Given the description of an element on the screen output the (x, y) to click on. 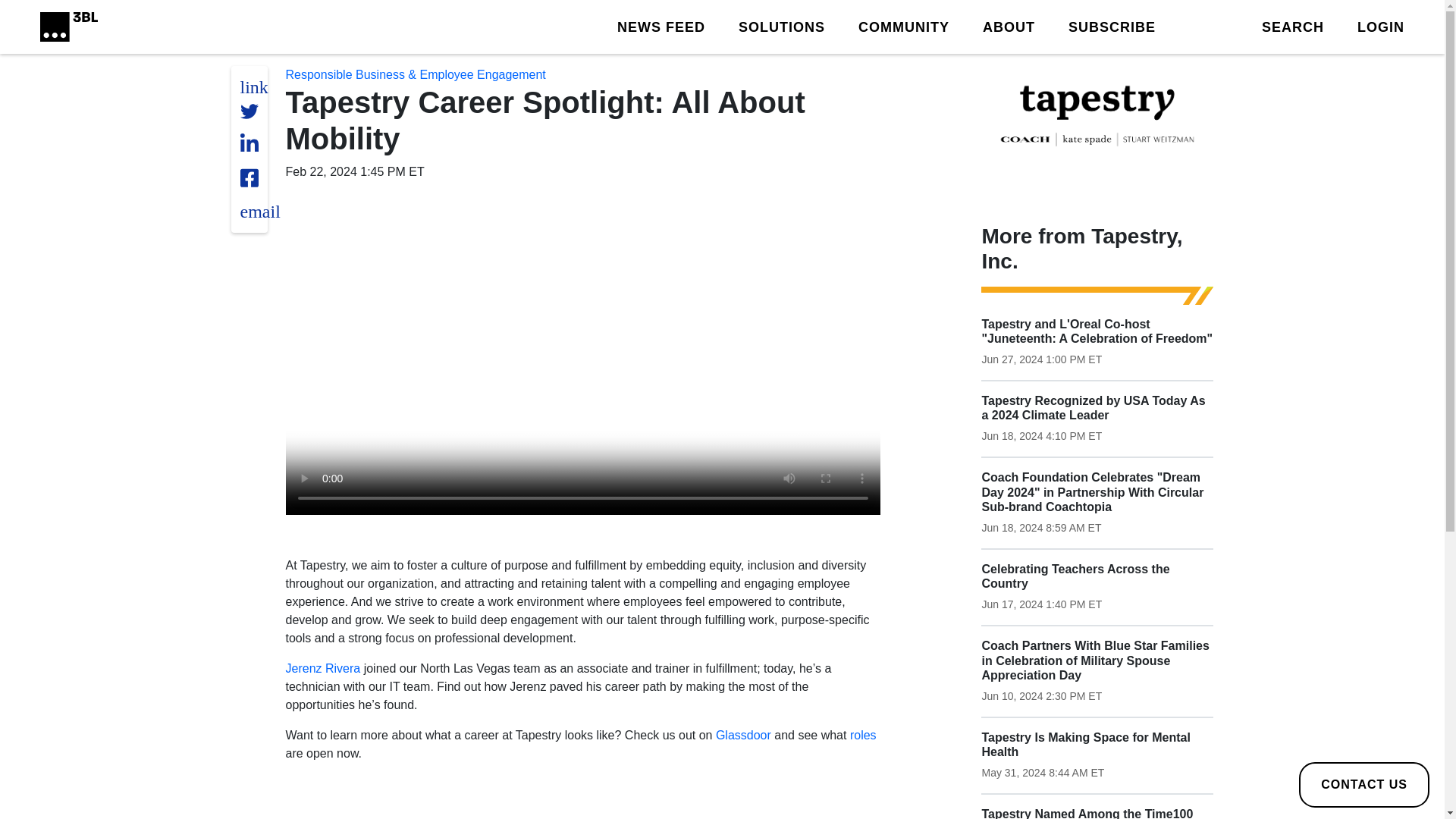
NEWS FEED (660, 26)
SUBSCRIBE (1112, 26)
COMMUNITY (904, 26)
link to 3 B L Media's Twitter (253, 87)
Share via email (259, 211)
SOLUTIONS (781, 26)
ABOUT (1008, 26)
